Given the description of an element on the screen output the (x, y) to click on. 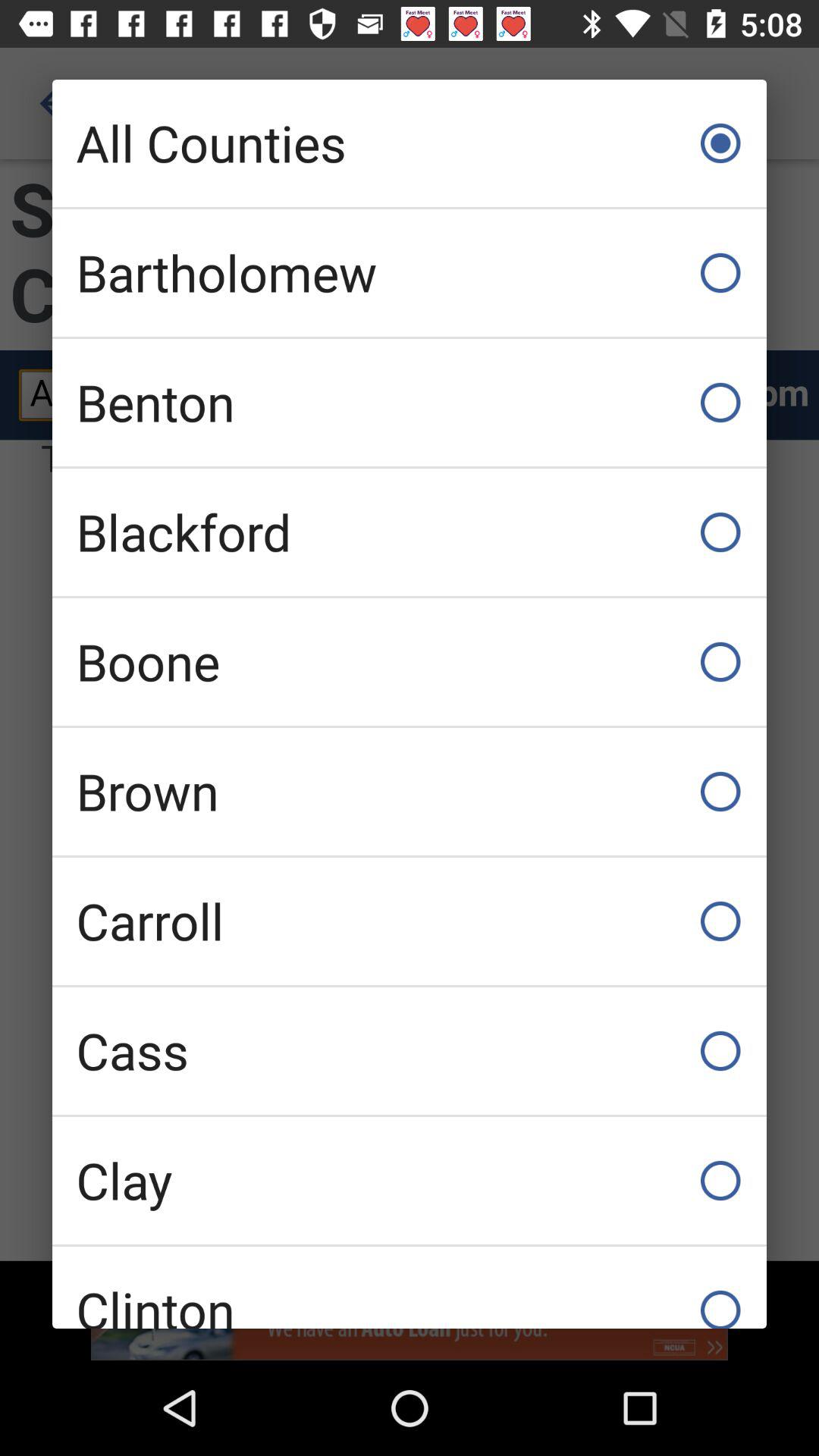
open the boone item (409, 661)
